Given the description of an element on the screen output the (x, y) to click on. 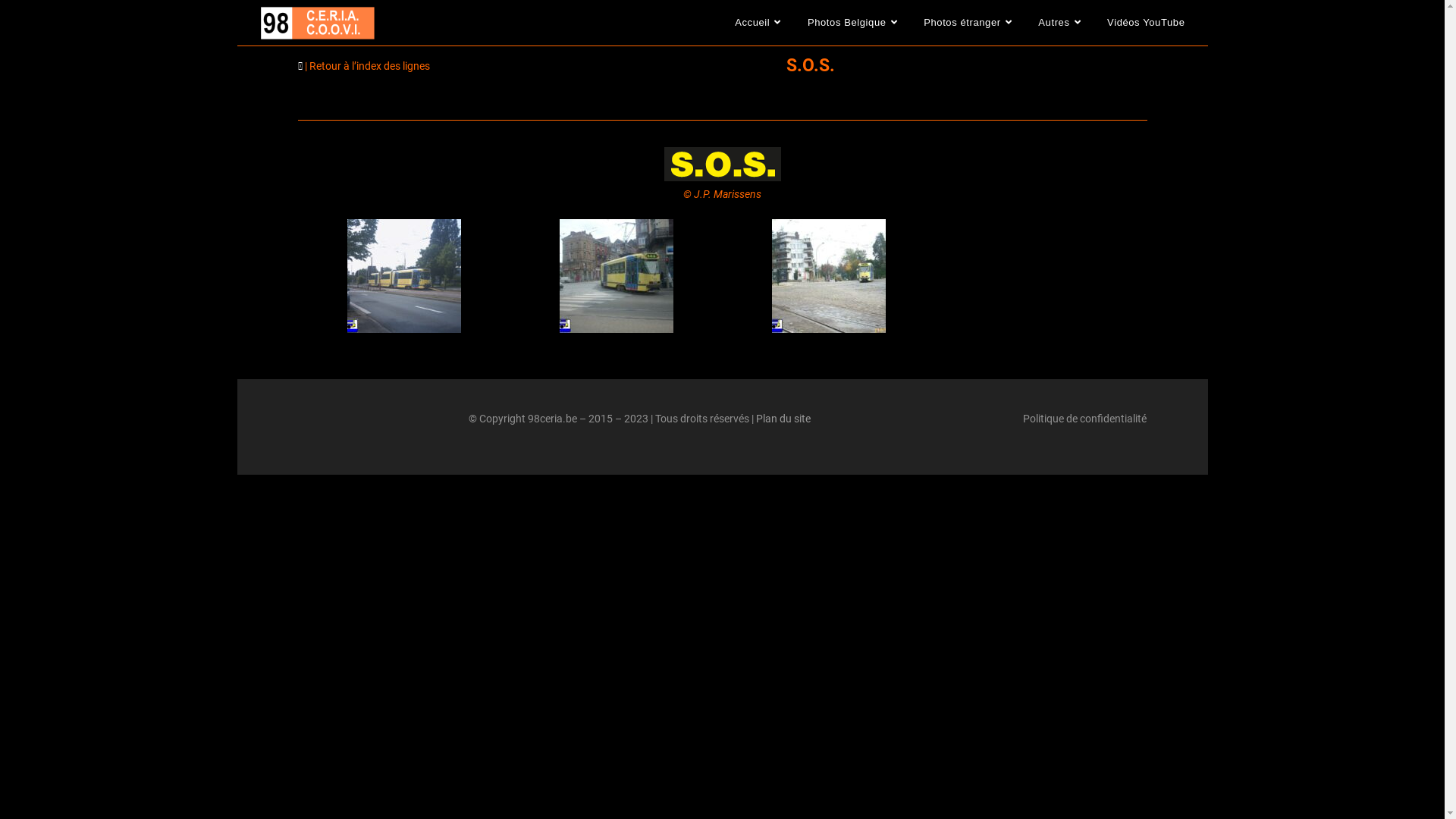
Accueil Element type: text (759, 22)
Photos Belgique Element type: text (854, 22)
Plan du site Element type: text (783, 418)
Autres Element type: text (1060, 22)
